Given the description of an element on the screen output the (x, y) to click on. 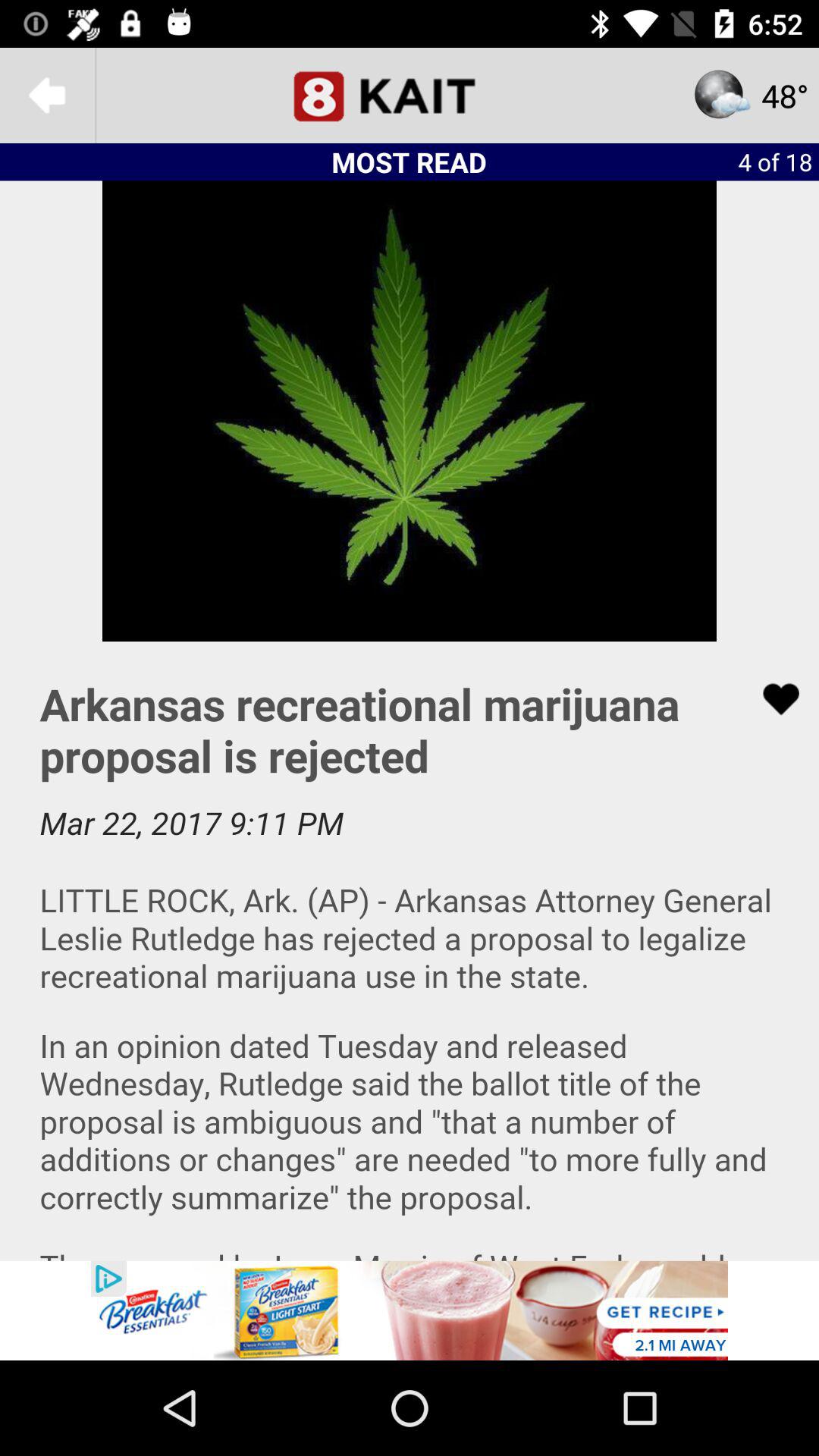
like button (771, 699)
